Given the description of an element on the screen output the (x, y) to click on. 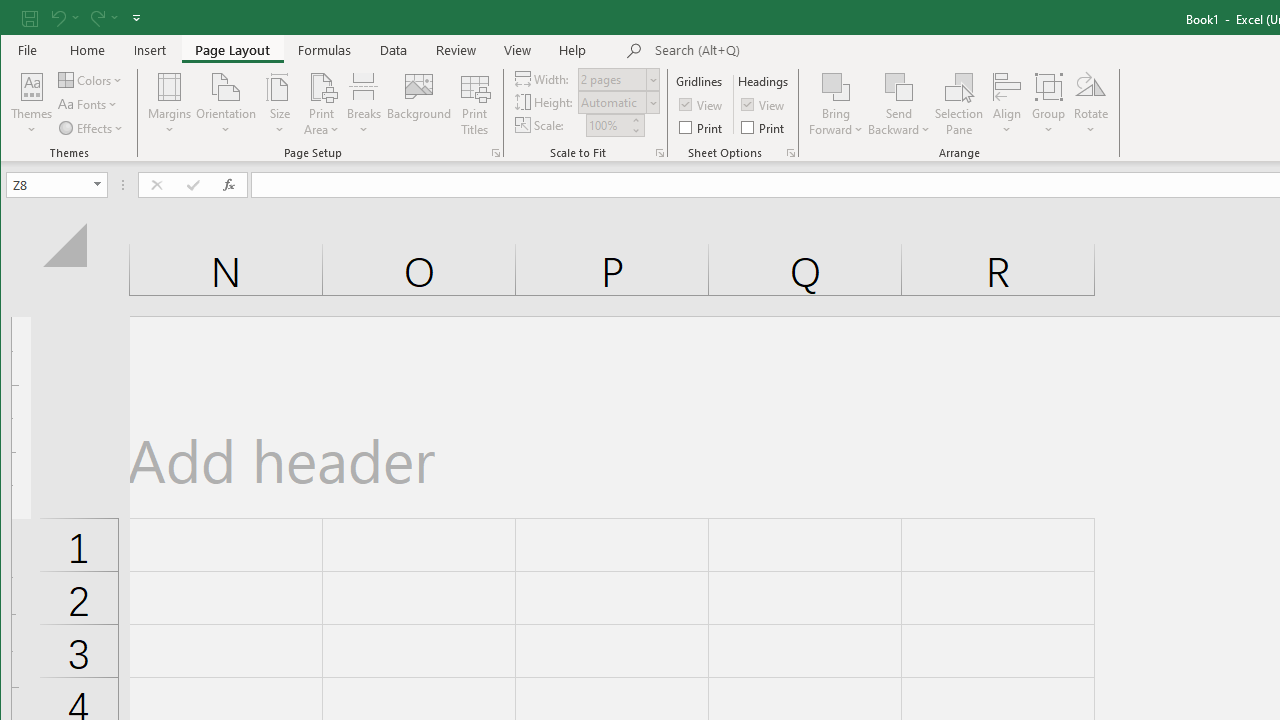
Orientation (226, 104)
More (635, 120)
Less (635, 130)
Effects (92, 127)
Print Titles (475, 104)
Bring Forward (836, 104)
